Given the description of an element on the screen output the (x, y) to click on. 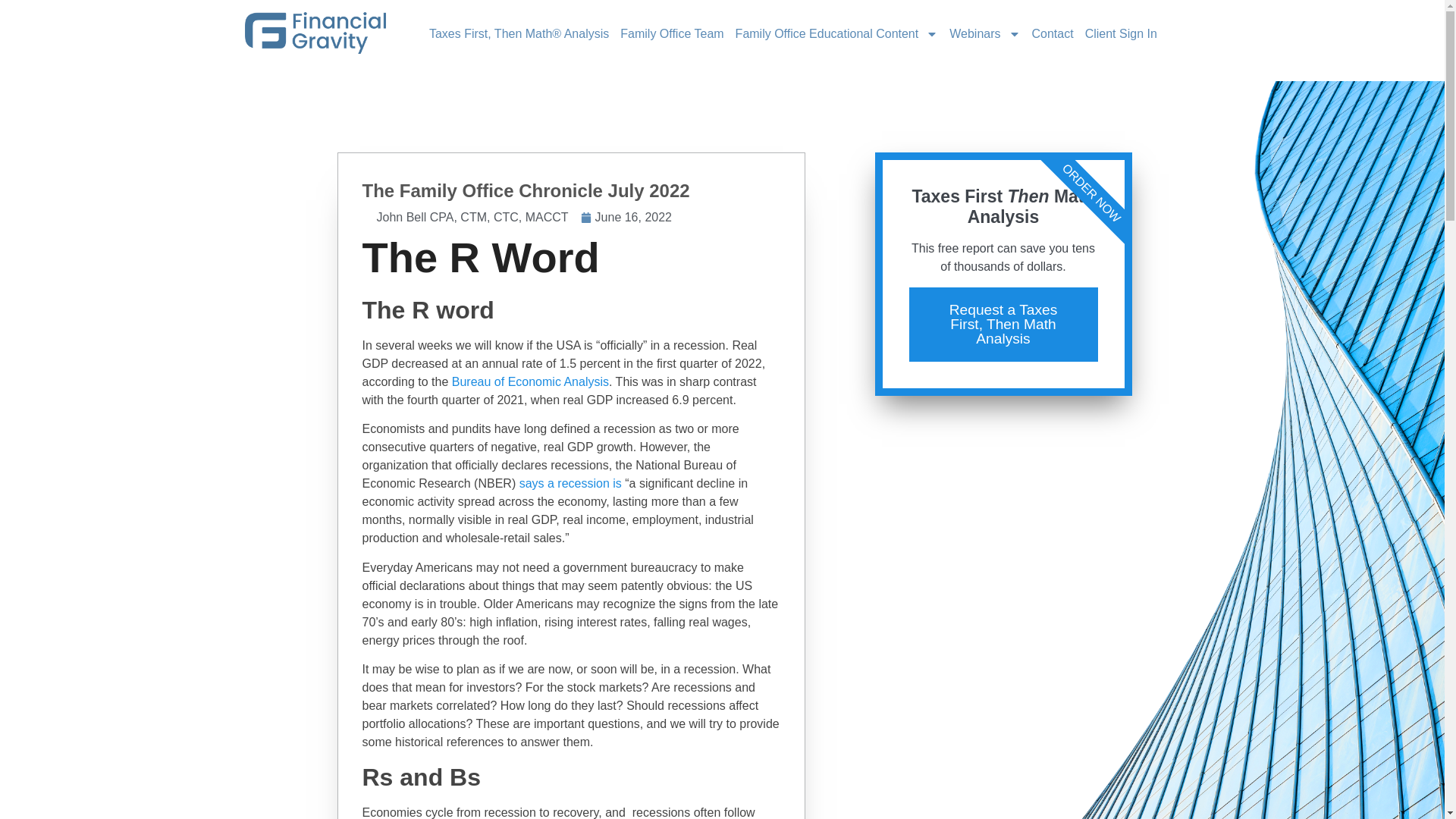
Family Office Educational Content (837, 33)
Contact (1052, 33)
Client Sign In (1120, 33)
Webinars (983, 33)
Family Office Team (670, 33)
